Given the description of an element on the screen output the (x, y) to click on. 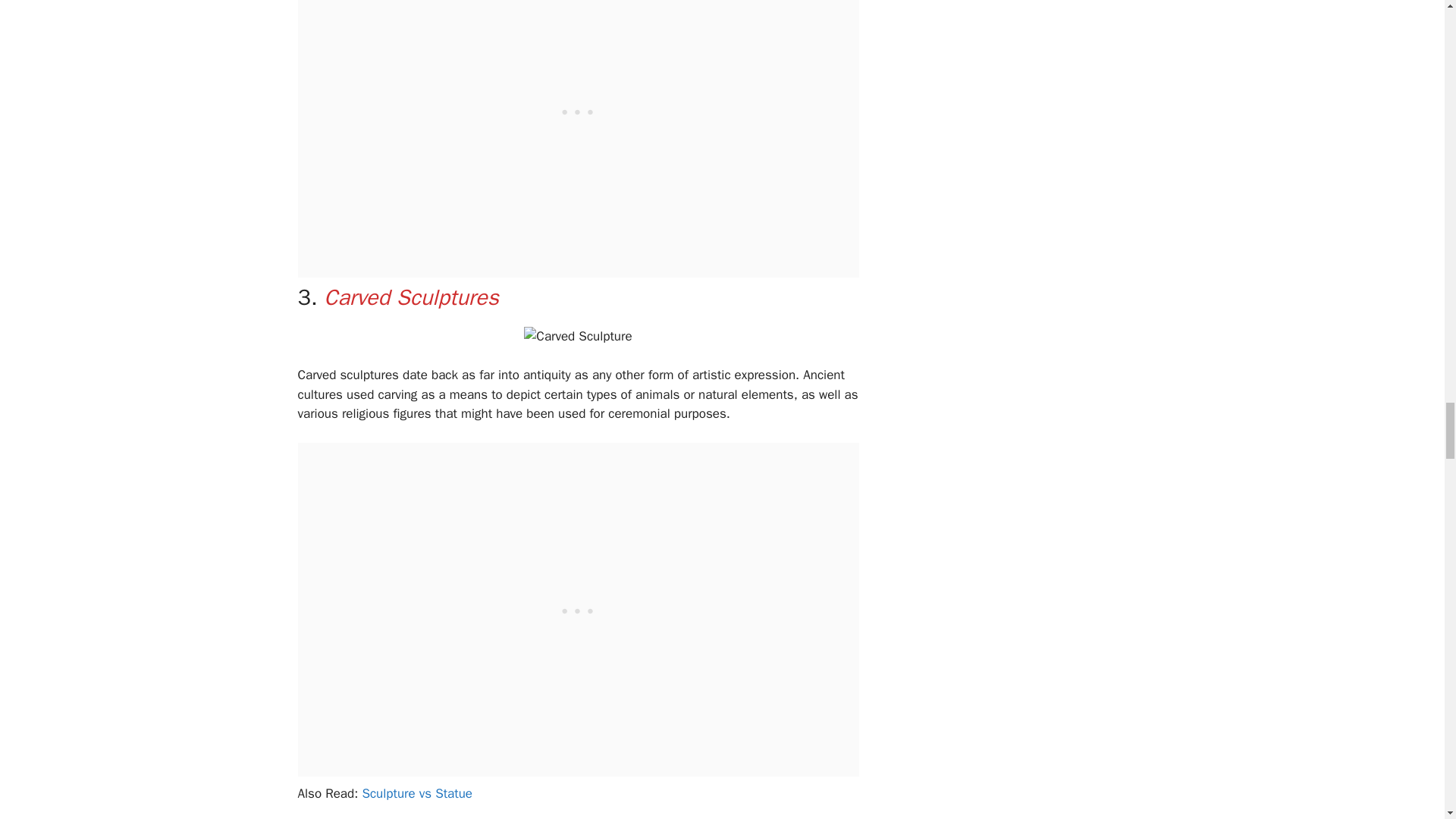
Sculpture vs Statue (416, 793)
